Given the description of an element on the screen output the (x, y) to click on. 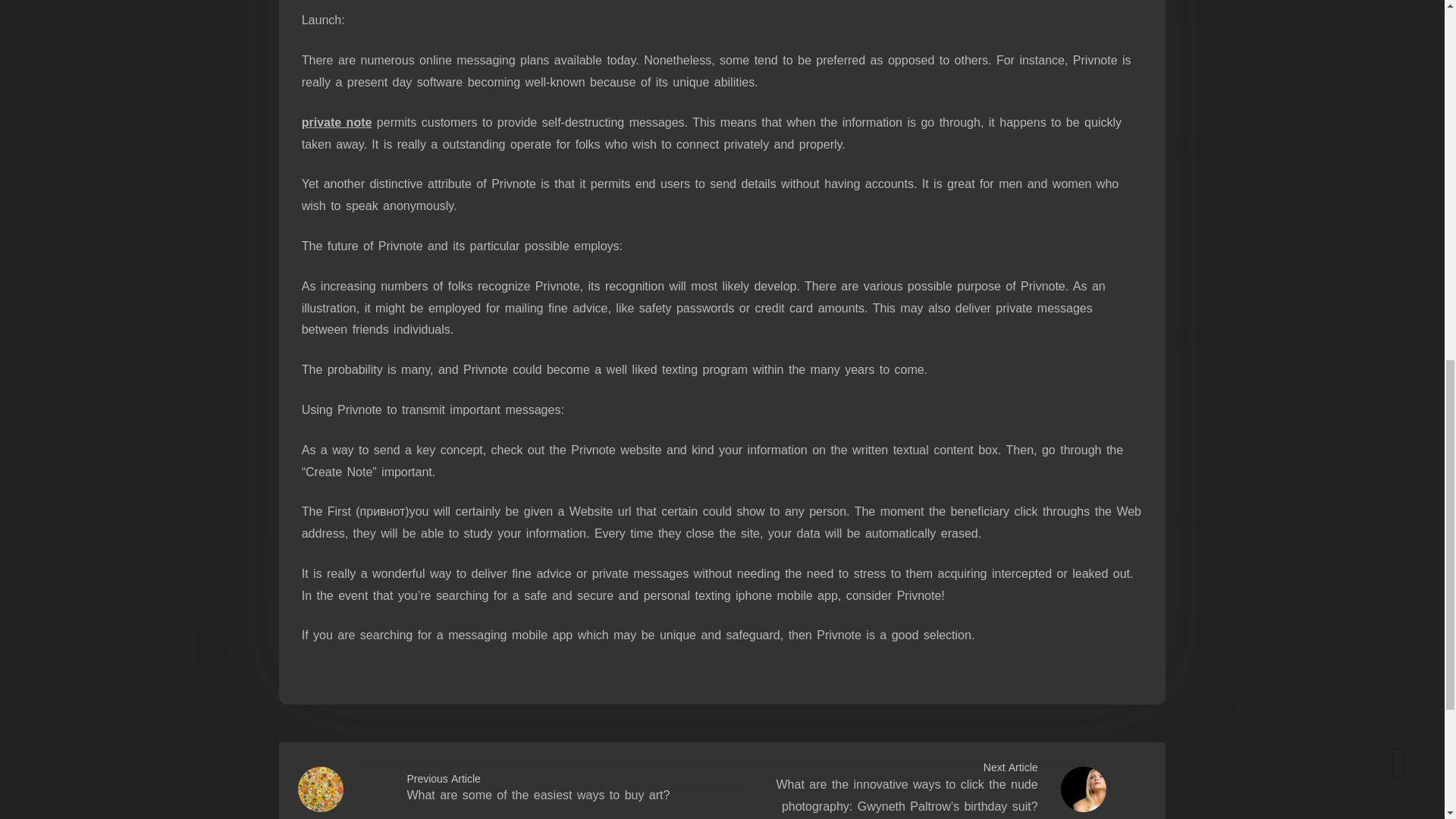
What are some of the easiest ways to buy art? (537, 794)
private note (336, 122)
